Given the description of an element on the screen output the (x, y) to click on. 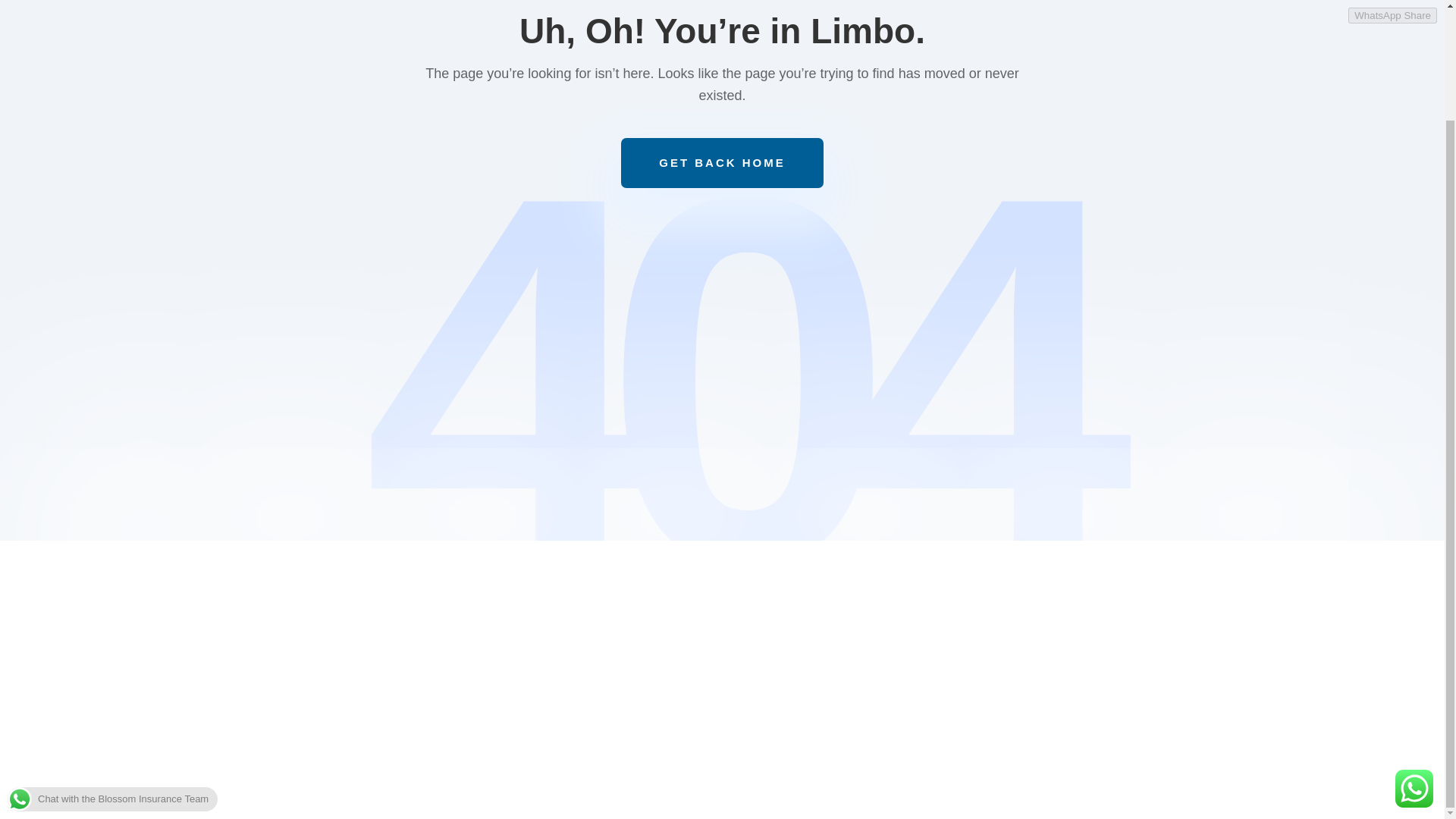
GET BACK HOME (722, 163)
